Given the description of an element on the screen output the (x, y) to click on. 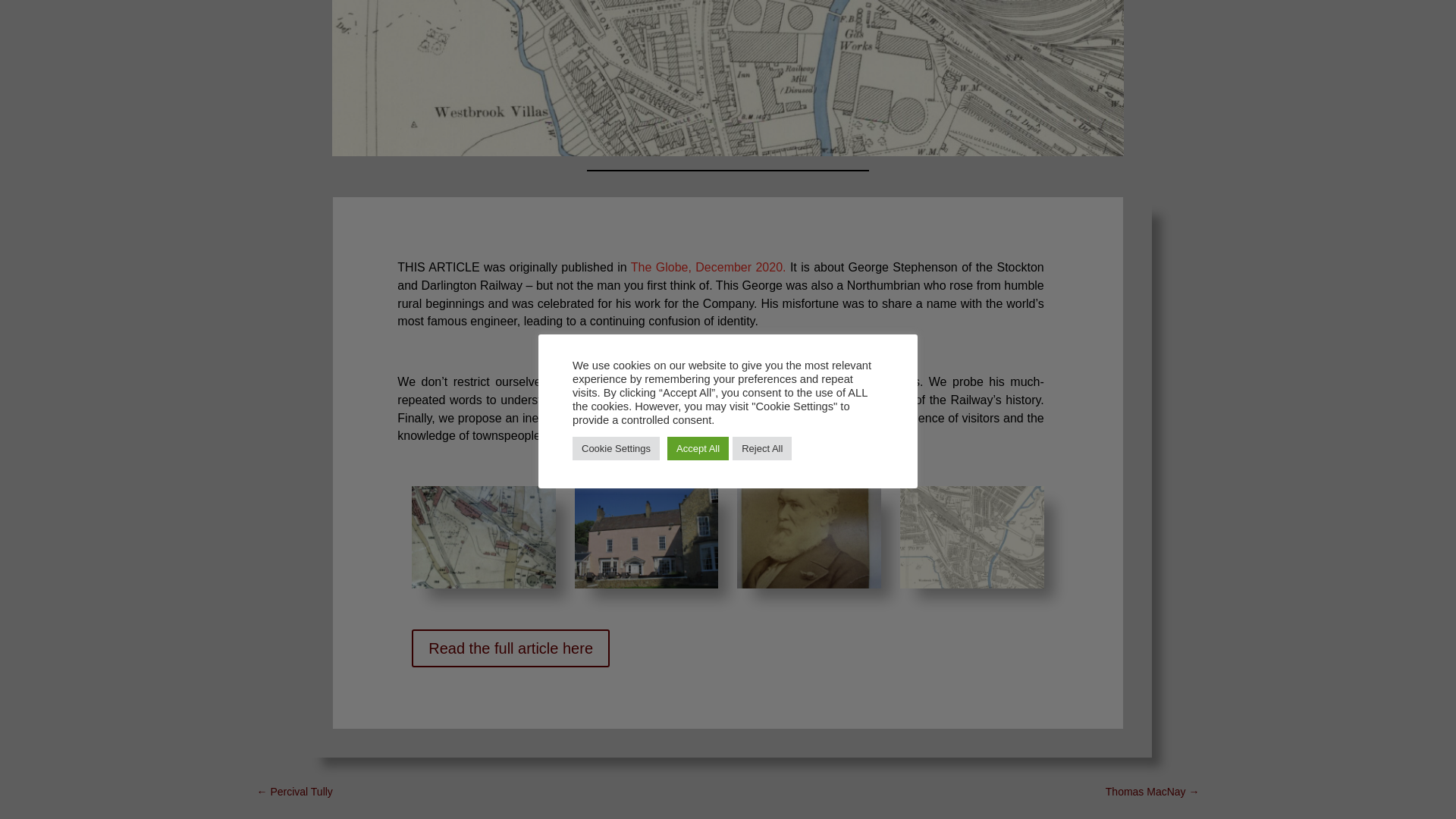
1896, OS 25 ins, 4 Steph St, NLS-page-001 (727, 78)
